Given the description of an element on the screen output the (x, y) to click on. 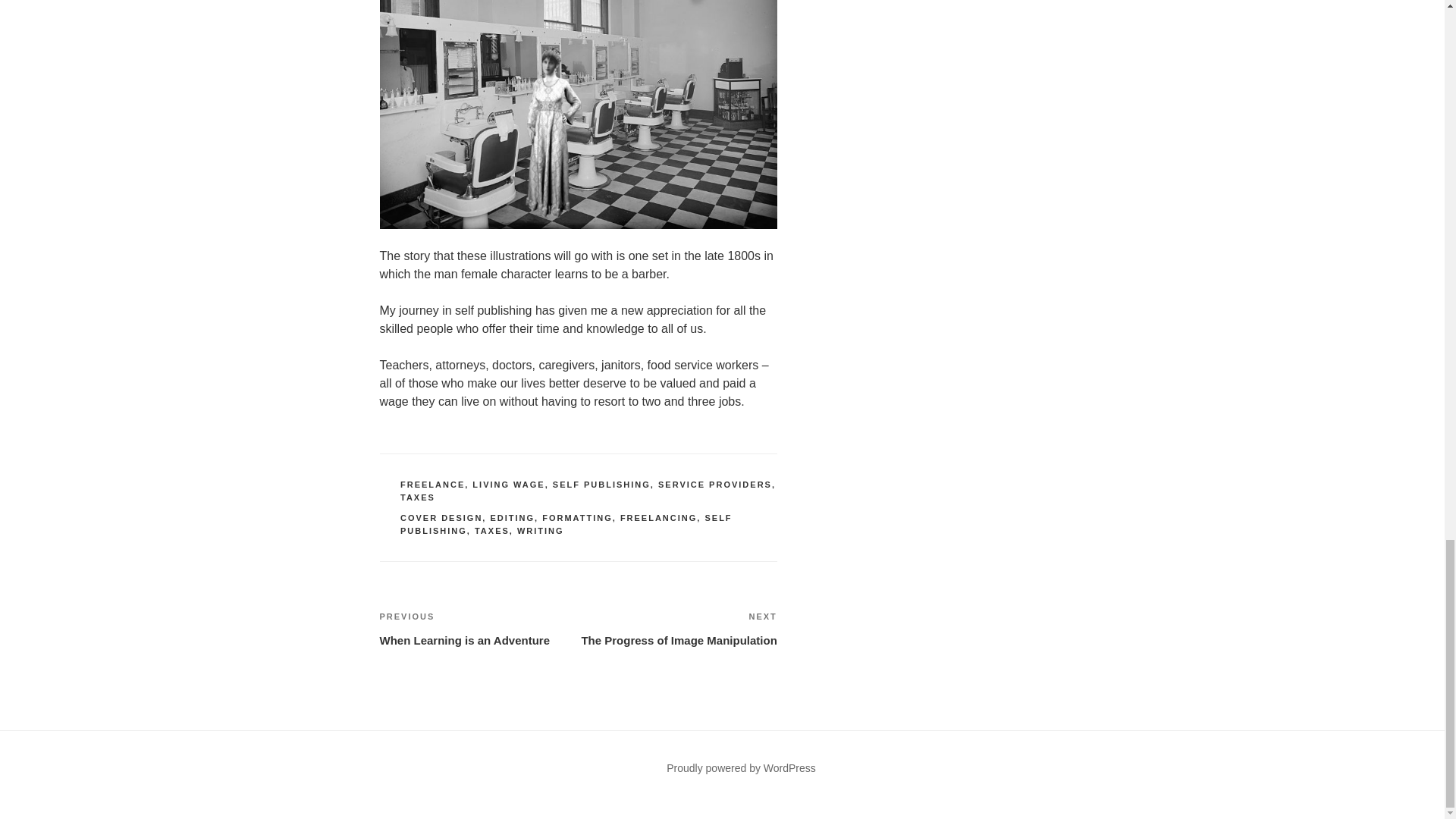
Email (475, 786)
SERVICE PROVIDERS (714, 483)
EDITING (511, 517)
FREELANCING (658, 517)
FREELANCE (432, 483)
Yelp (391, 762)
TAXES (417, 497)
Instagram (406, 786)
FORMATTING (576, 517)
Twitter (526, 762)
